Given the description of an element on the screen output the (x, y) to click on. 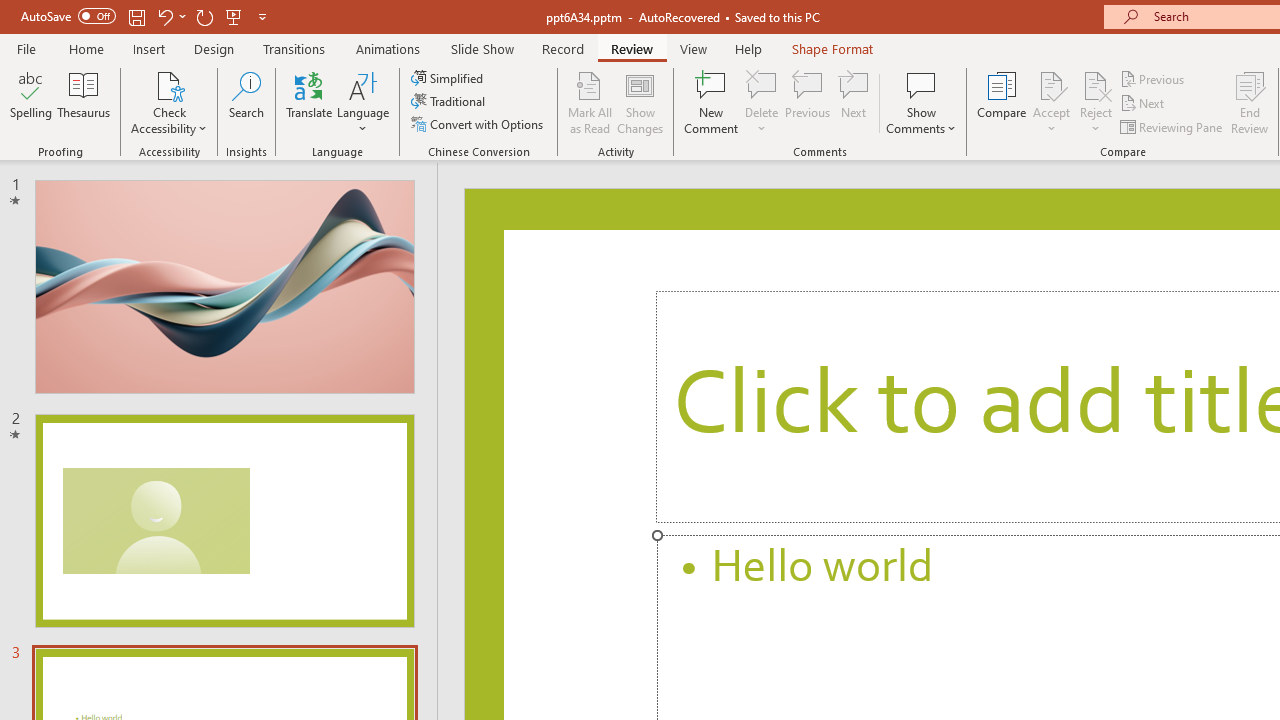
Delete (762, 84)
Check Accessibility (169, 102)
Show Comments (921, 102)
Spelling... (31, 102)
Reject (1096, 102)
Traditional (449, 101)
Simplified (449, 78)
Reject Change (1096, 84)
Delete (762, 102)
